Given the description of an element on the screen output the (x, y) to click on. 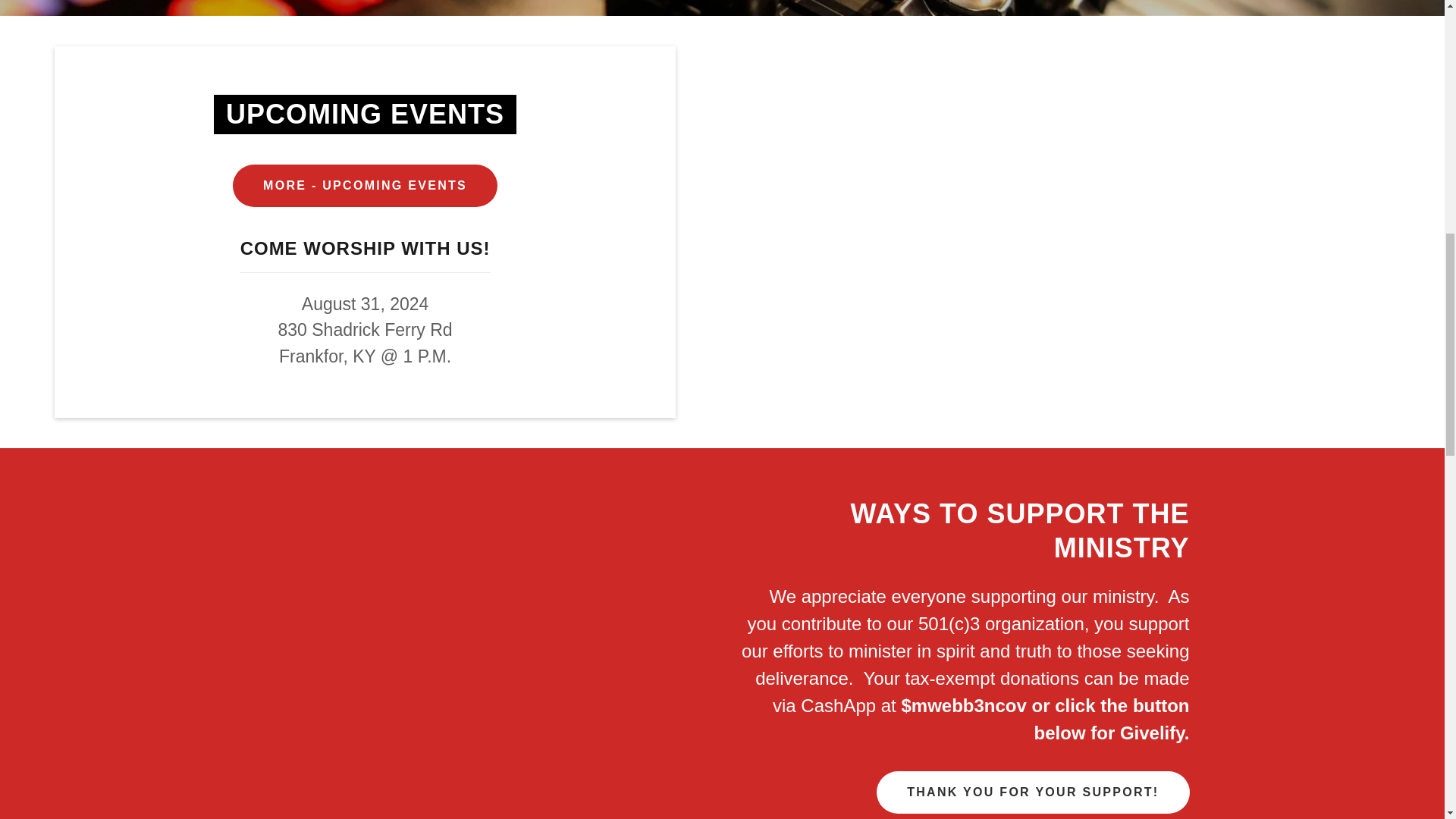
ACCEPT (1274, 324)
MORE - UPCOMING EVENTS (364, 184)
THANK YOU FOR YOUR SUPPORT! (1032, 792)
